Given the description of an element on the screen output the (x, y) to click on. 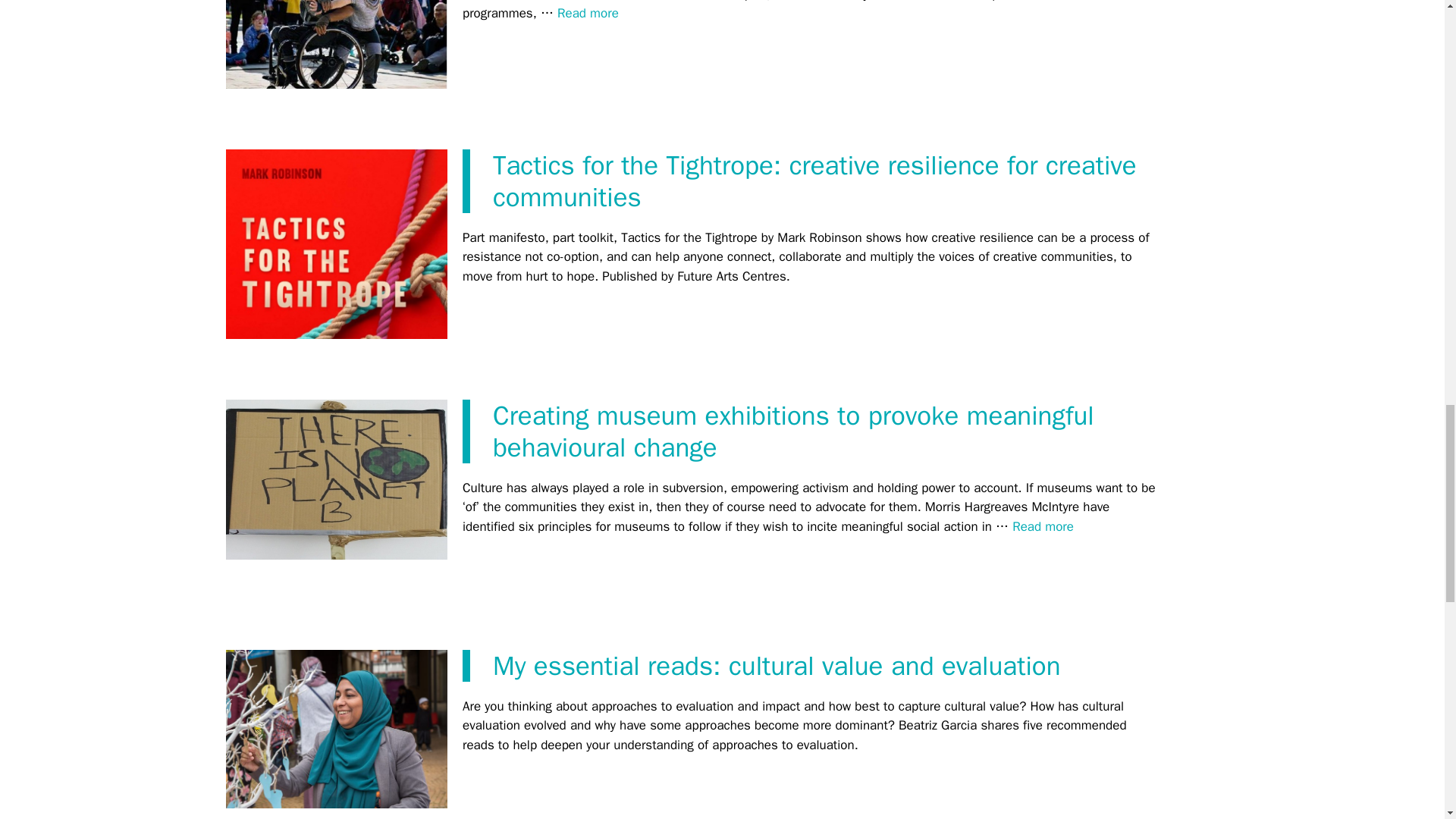
Read more (587, 12)
Creative People and Places: Creating the Environment (587, 12)
Read more (1042, 526)
My essential reads: cultural value and evaluation (777, 665)
